Given the description of an element on the screen output the (x, y) to click on. 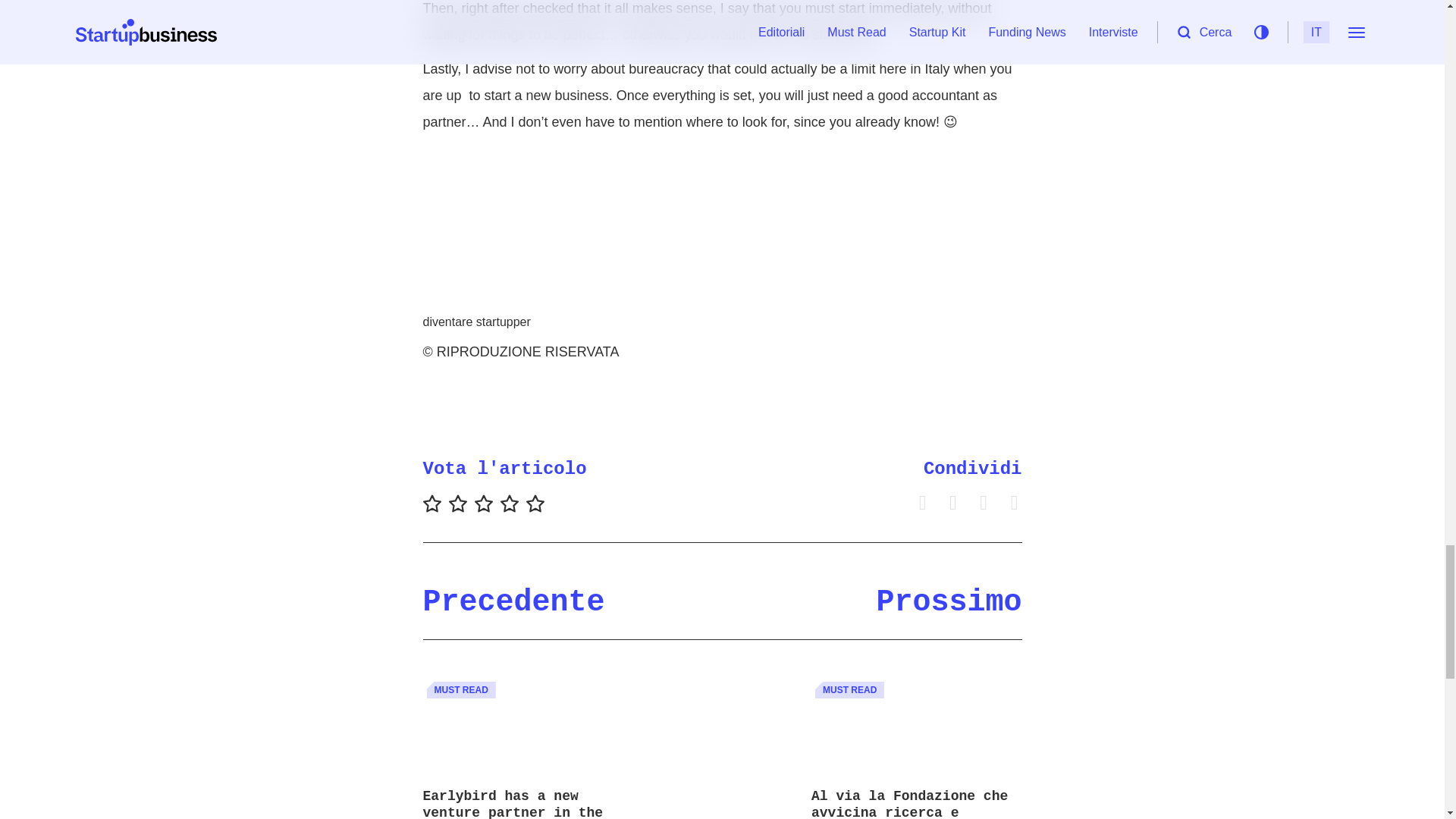
Precedente (514, 602)
MUST READ (849, 689)
MUST READ (460, 689)
Prossimo (949, 602)
diventare startupper (477, 321)
